Given the description of an element on the screen output the (x, y) to click on. 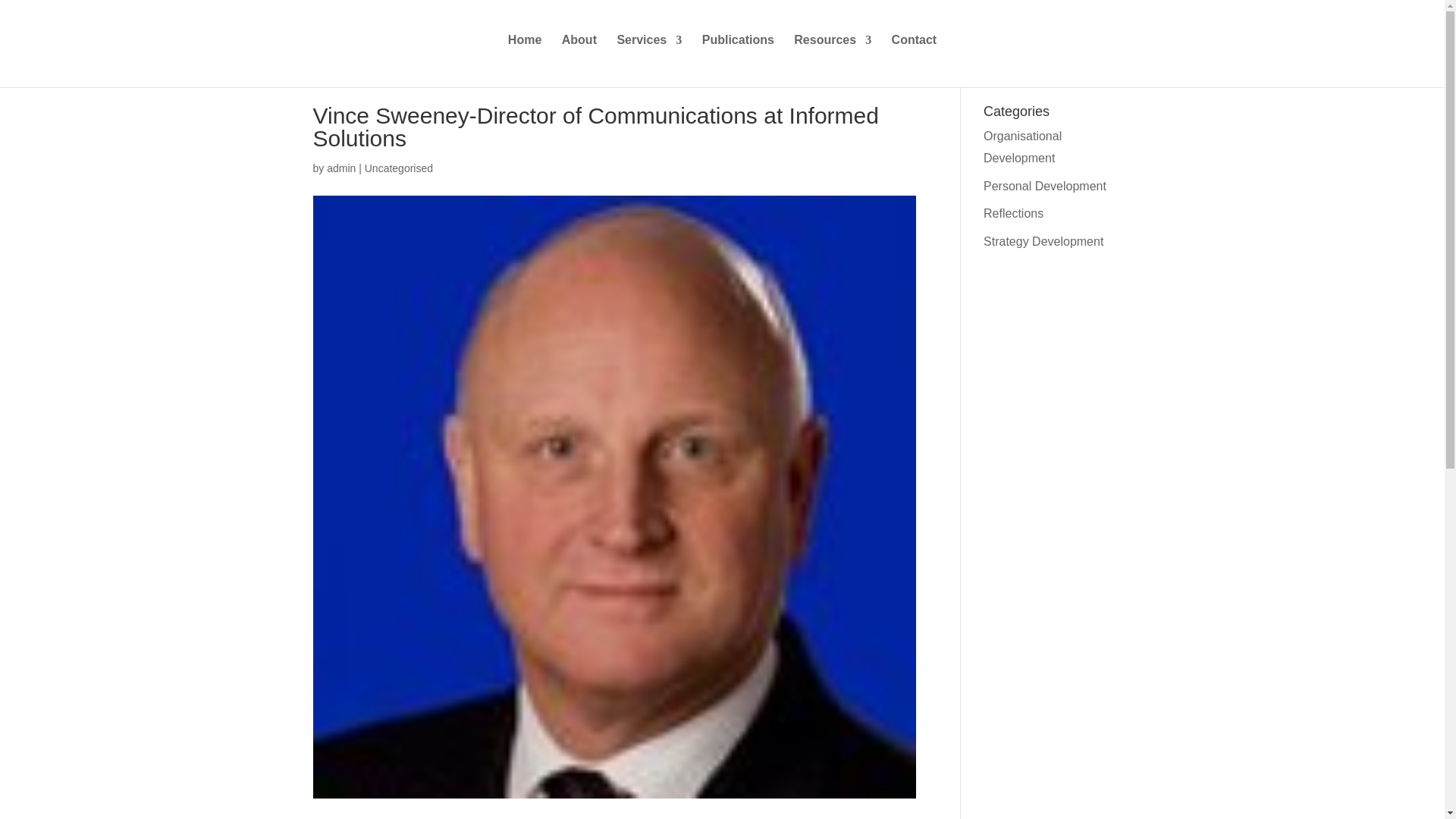
admin (340, 168)
Personal Development (1045, 185)
Home (524, 57)
Resources (831, 57)
Contact (914, 57)
Publications (737, 57)
Organisational Development (1022, 146)
Strategy Development (1043, 241)
Reflections (1013, 213)
About (579, 57)
Posts by admin (340, 168)
Services (648, 57)
